Given the description of an element on the screen output the (x, y) to click on. 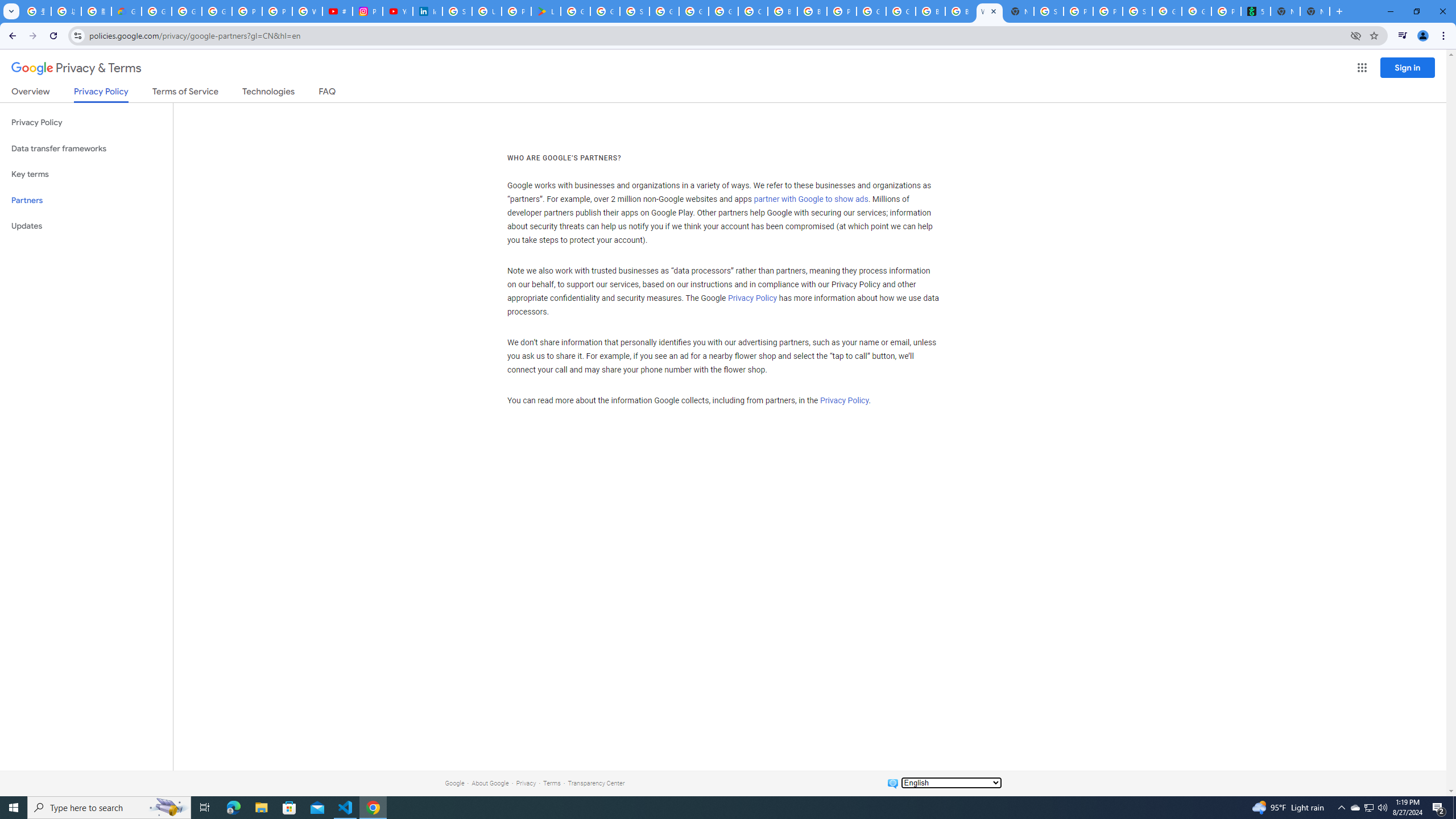
Transparency Center (595, 783)
partner with Google to show ads (810, 199)
Privacy Help Center - Policies Help (247, 11)
New Tab (1314, 11)
Google Cloud Platform (693, 11)
